Given the description of an element on the screen output the (x, y) to click on. 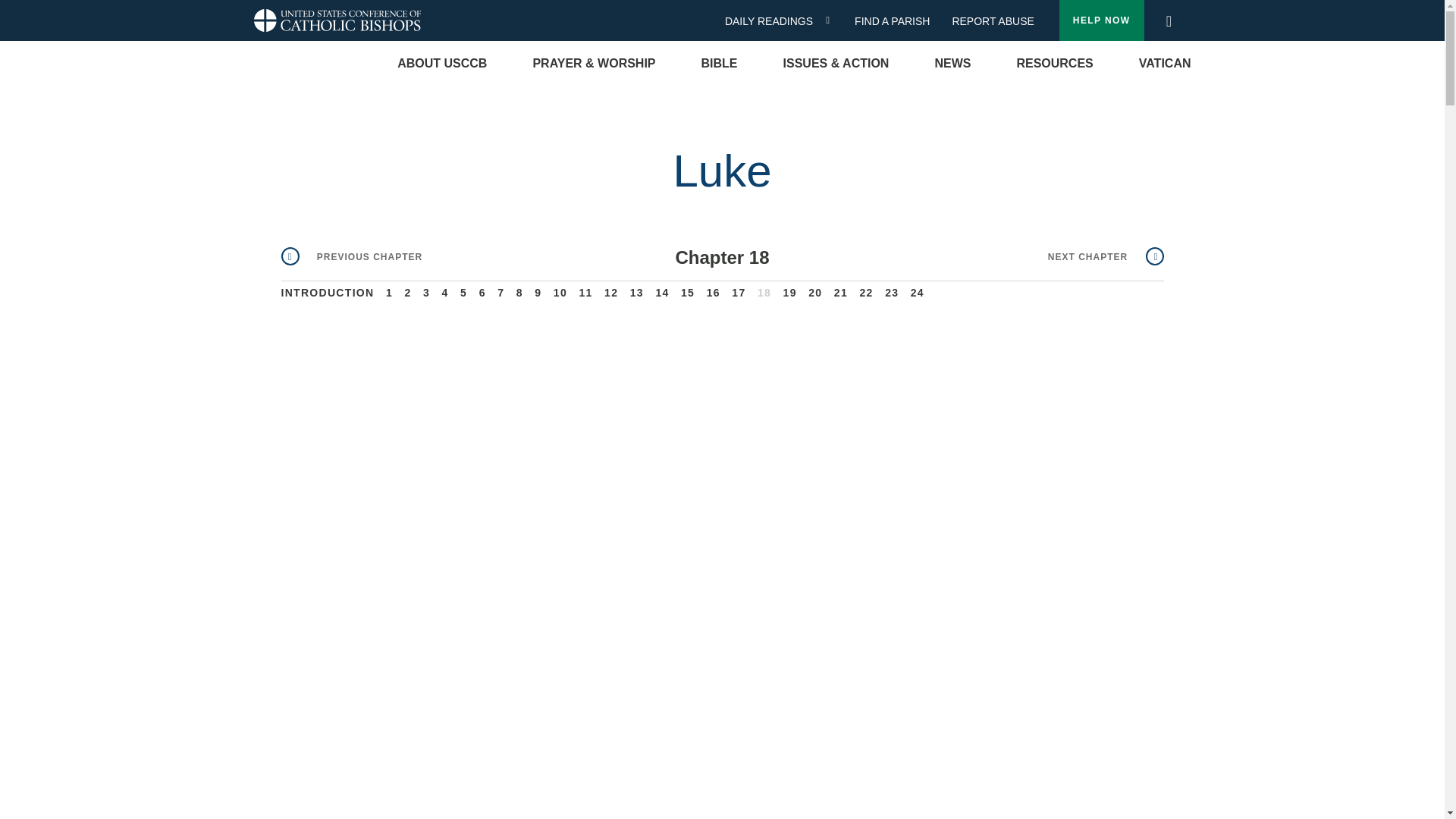
Link list for Vatican website (1165, 62)
DAILY READINGS CALENDAR (832, 20)
DAILY READINGS (774, 20)
REPORT ABUSE (992, 20)
Go to next page (1105, 256)
FIND A PARISH (897, 20)
Go (1173, 21)
Search (1168, 16)
HELP NOW (1101, 20)
